Given the description of an element on the screen output the (x, y) to click on. 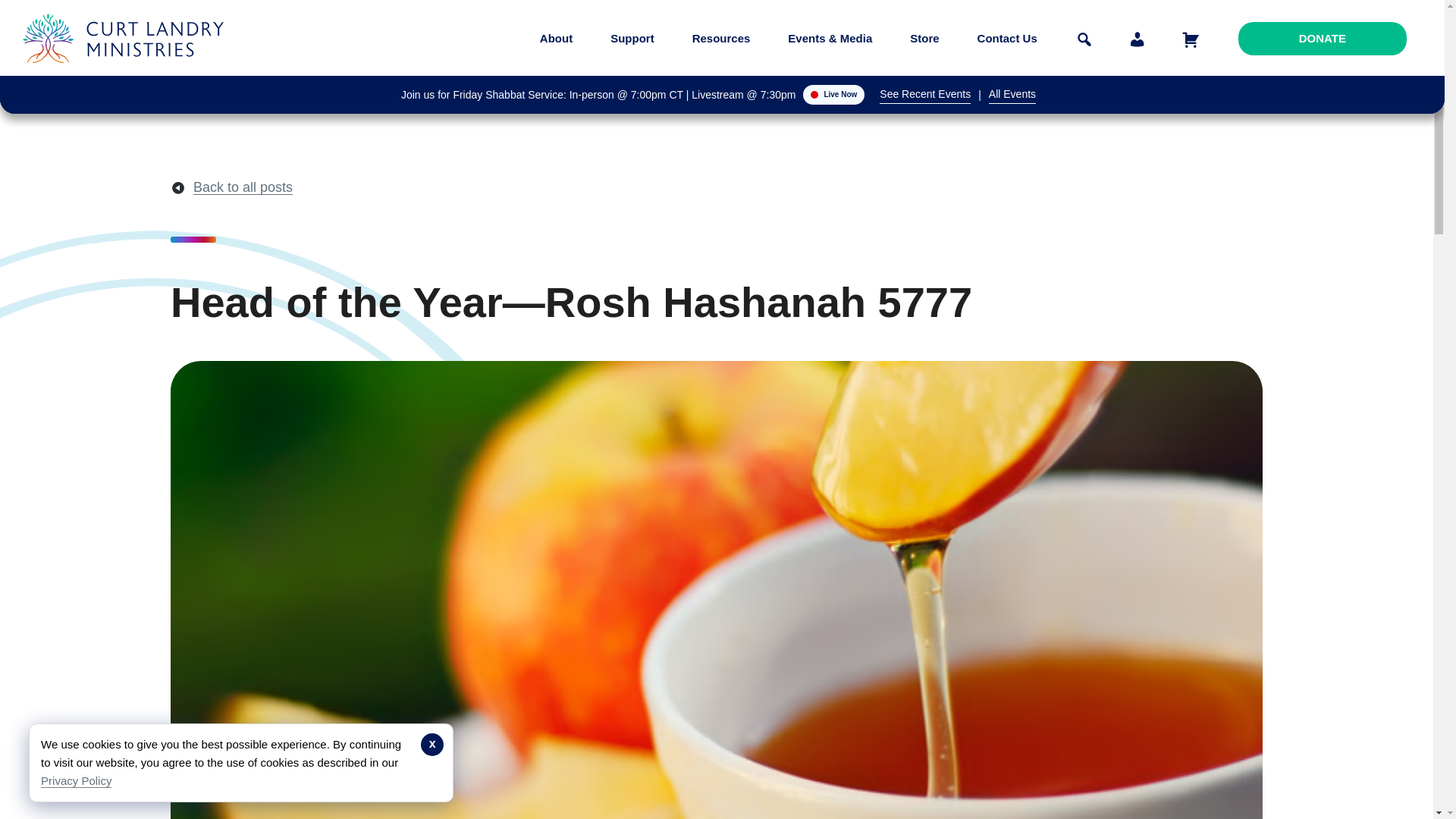
Store (924, 38)
Resources (721, 38)
Support (631, 38)
About (556, 38)
Curt Landry Ministries (127, 74)
